Given the description of an element on the screen output the (x, y) to click on. 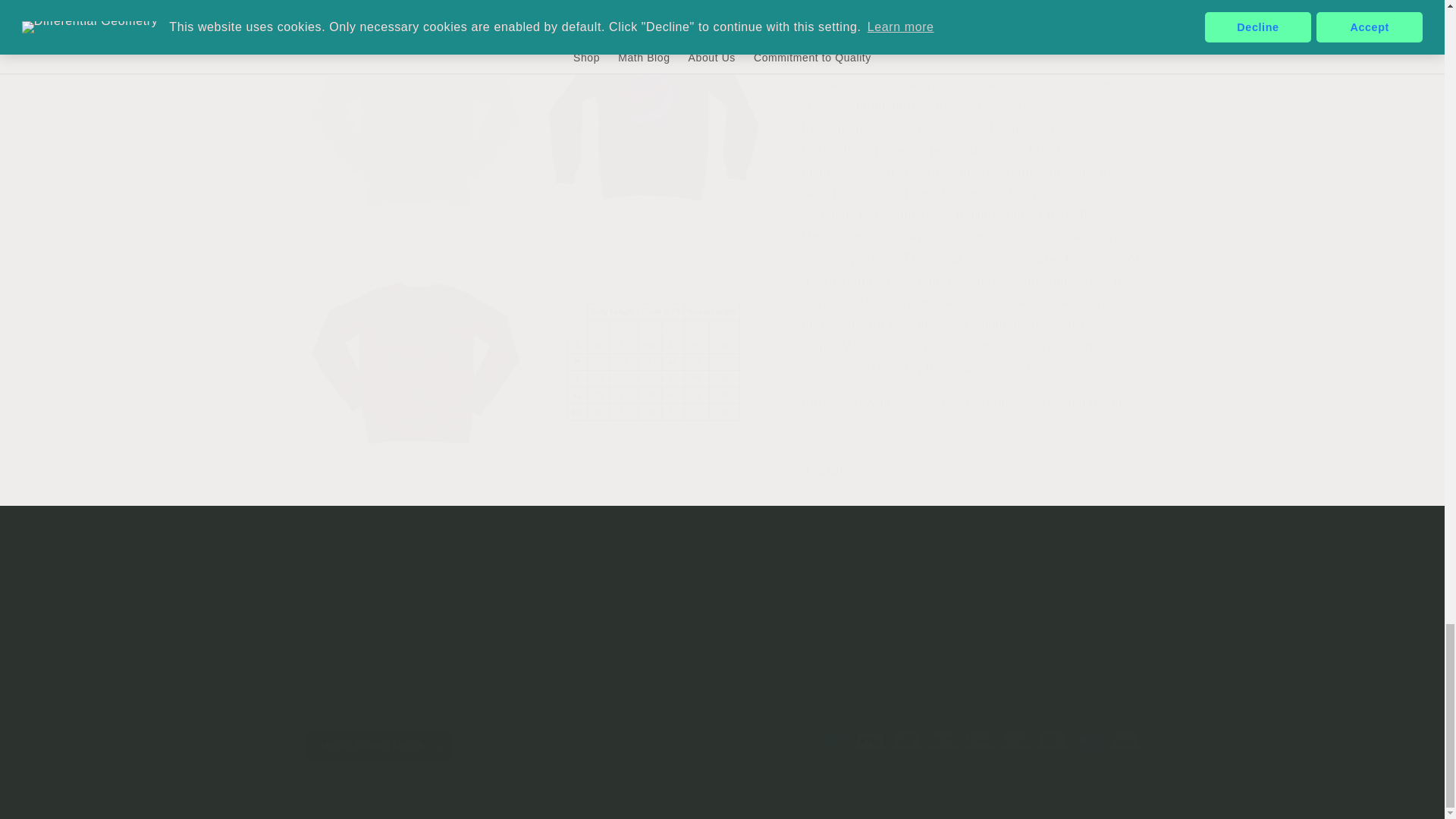
Open media 23 in modal (652, 346)
Open media 21 in modal (652, 110)
Open media 22 in modal (415, 346)
Open media 20 in modal (415, 110)
